Given the description of an element on the screen output the (x, y) to click on. 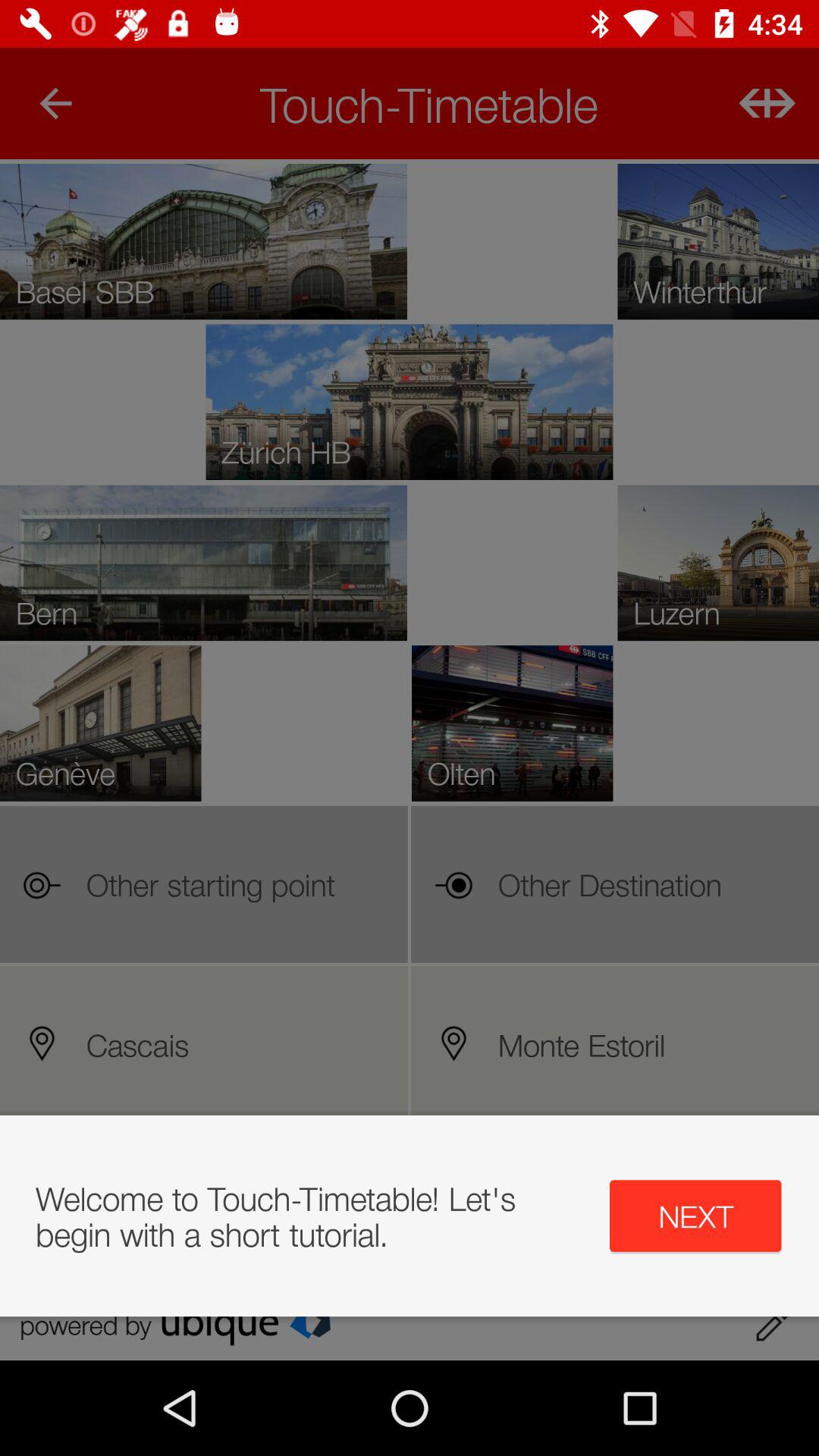
turn off the icon to the right of welcome to touch app (695, 1215)
